Given the description of an element on the screen output the (x, y) to click on. 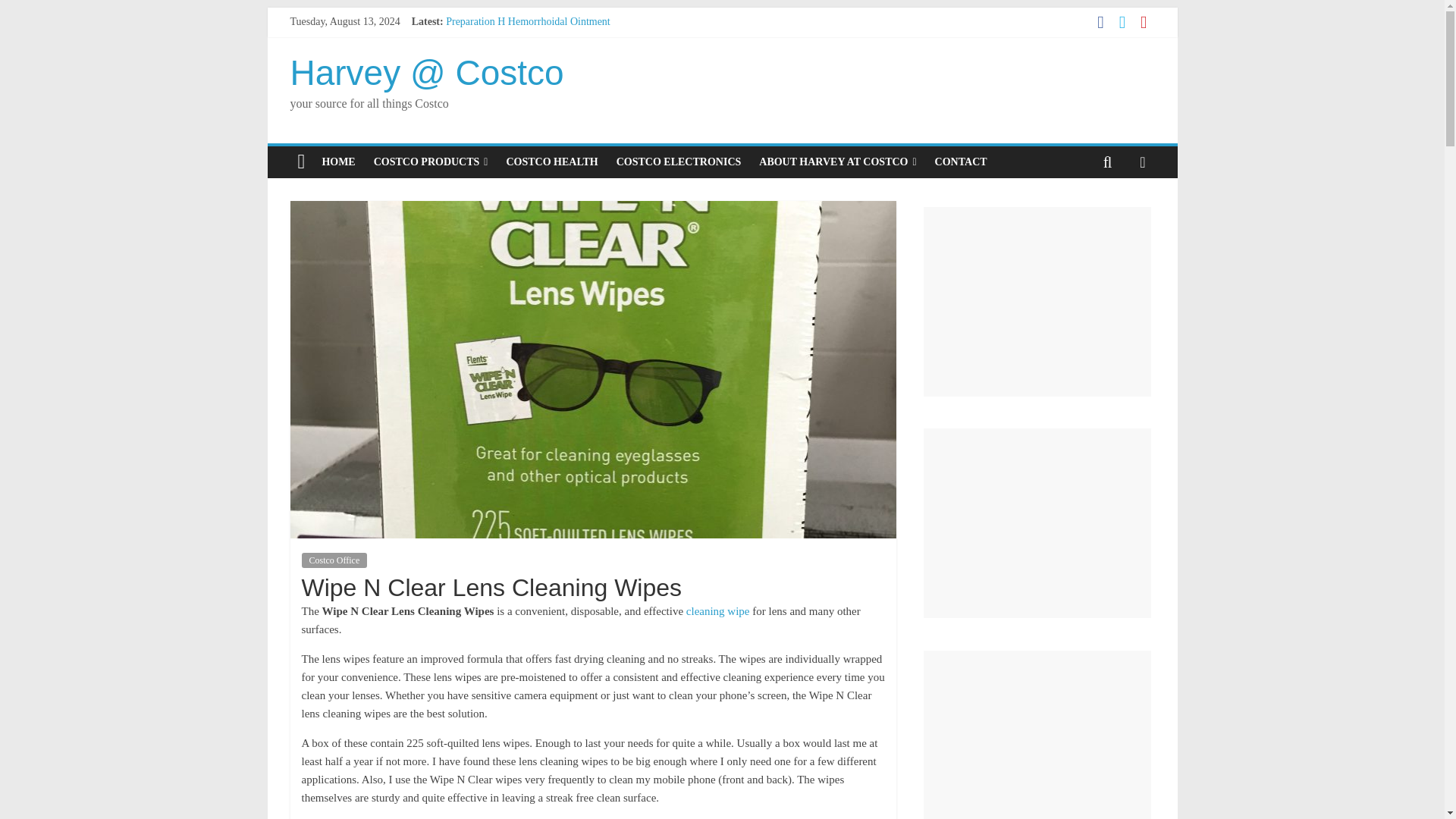
HOME (338, 162)
Kirkland Signature Marcona Almonds (526, 55)
COSTCO HEALTH (551, 162)
ABOUT HARVEY AT COSTCO (836, 162)
A-Sha Tainan Style Noodles (505, 89)
COSTCO ELECTRONICS (679, 162)
Kirkland Signature Marcona Almonds (526, 55)
Preparation H Hemorrhoidal Ointment (527, 21)
COSTCO PRODUCTS (431, 162)
A-Sha Tainan Style Noodles (505, 89)
